Given the description of an element on the screen output the (x, y) to click on. 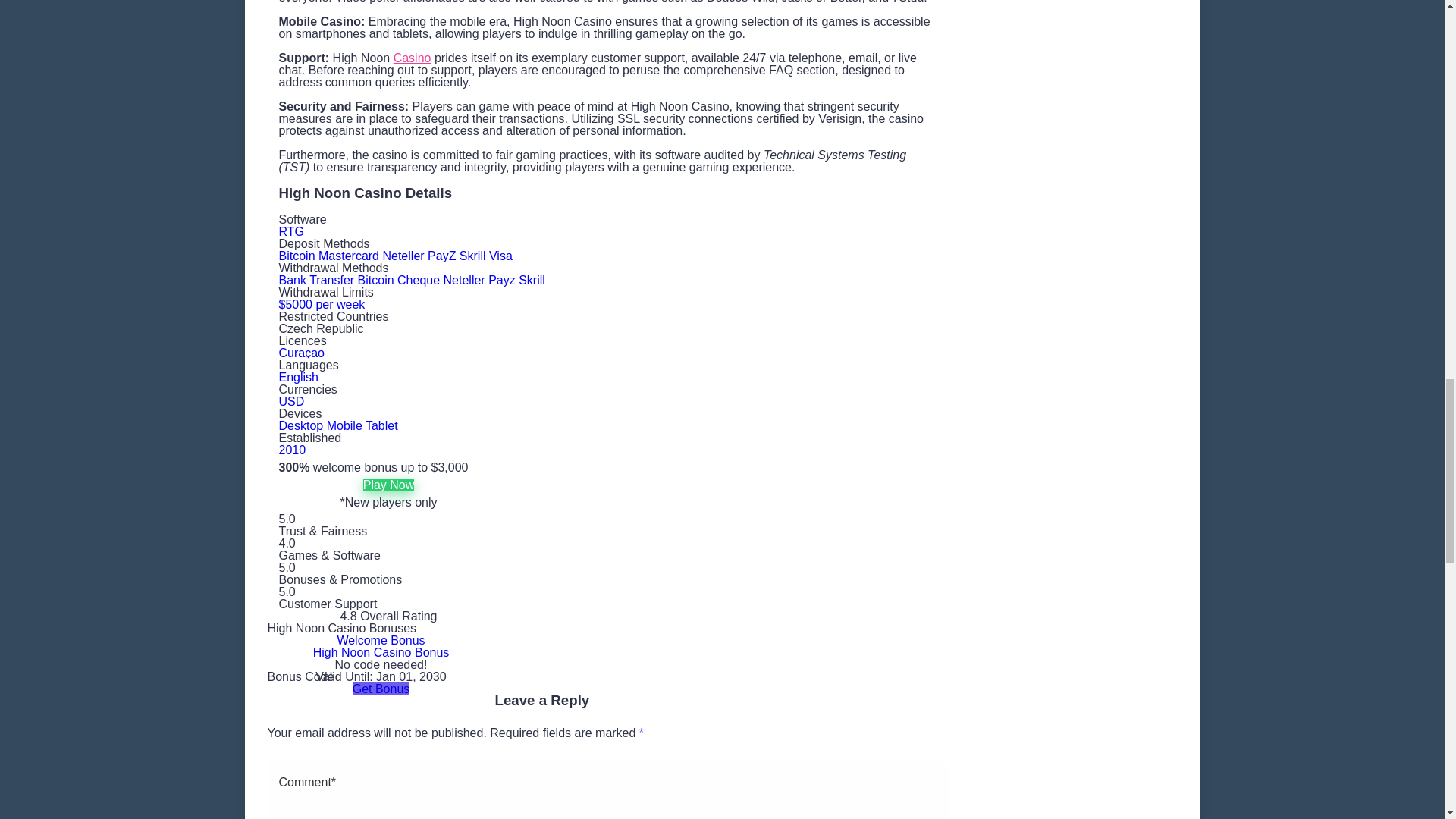
Welcome Bonus (380, 640)
Bitcoin (376, 279)
Neteller (464, 279)
2010 (292, 449)
Cheque (418, 279)
Bitcoin (376, 279)
Desktop (301, 425)
High Noon Casino Bonus (381, 652)
PayZ (441, 255)
USD (291, 400)
RTG (291, 231)
Neteller (402, 255)
Bitcoin (297, 255)
Bank Transfer (317, 279)
Visa (500, 255)
